Given the description of an element on the screen output the (x, y) to click on. 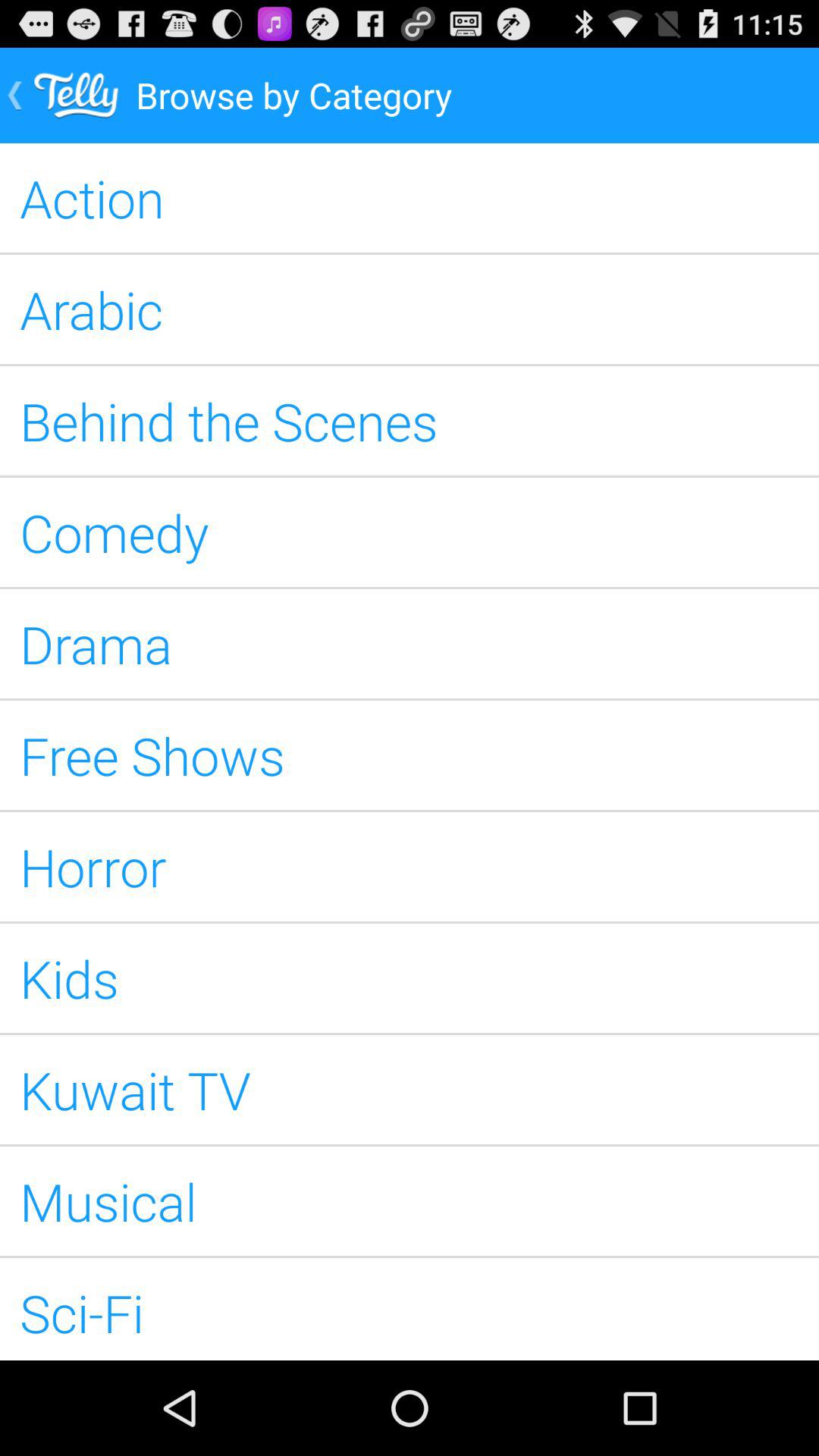
choose icon below musical app (409, 1309)
